Given the description of an element on the screen output the (x, y) to click on. 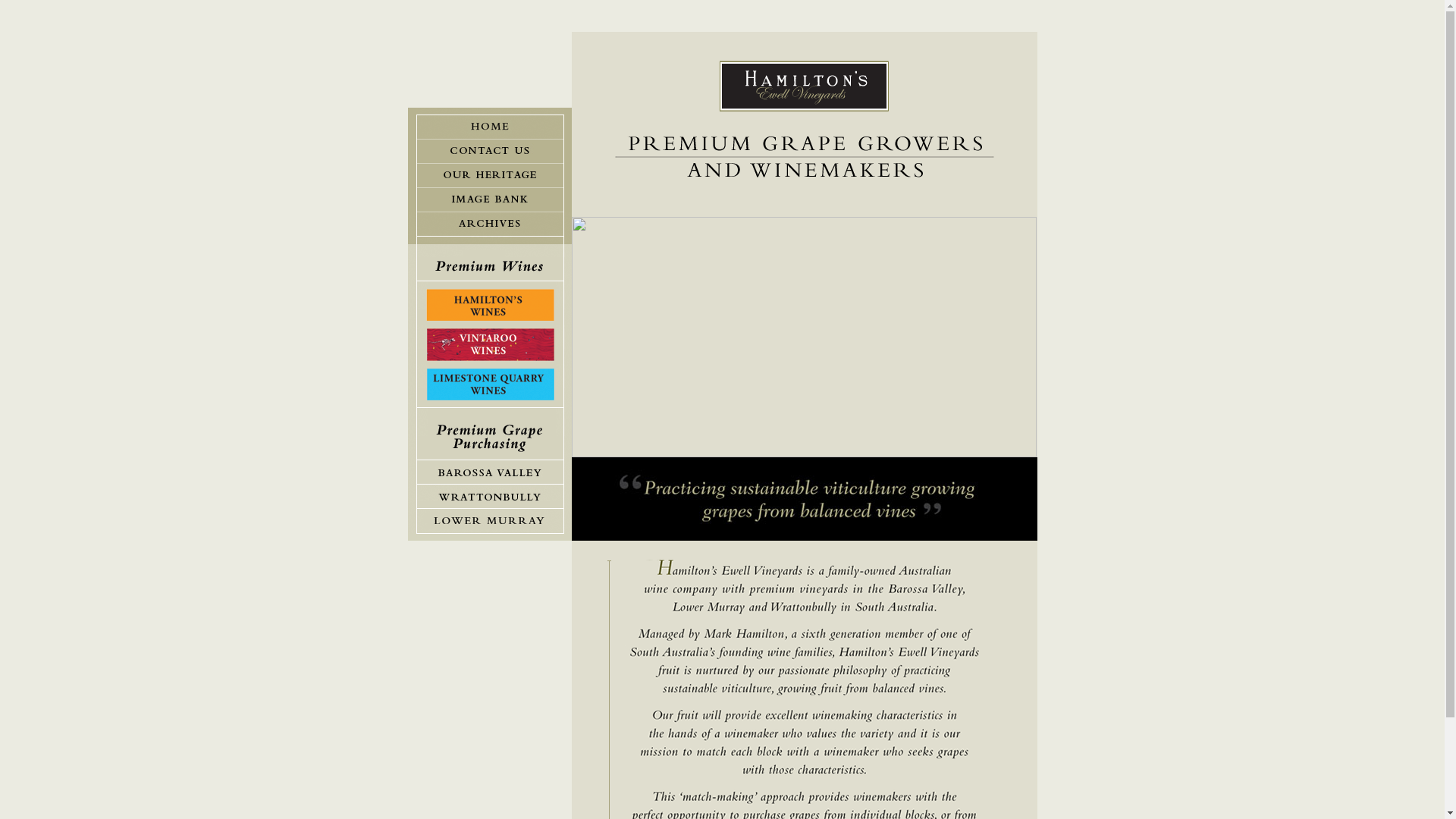
Wrattonbully Element type: text (489, 496)
Image Bank Element type: text (489, 200)
Contact Us Element type: text (489, 151)
Archives Element type: text (489, 228)
Our Heritage Element type: text (489, 175)
Lower Murray Element type: text (489, 524)
The Barossa Valley Element type: text (489, 472)
Home Element type: text (489, 123)
